Given the description of an element on the screen output the (x, y) to click on. 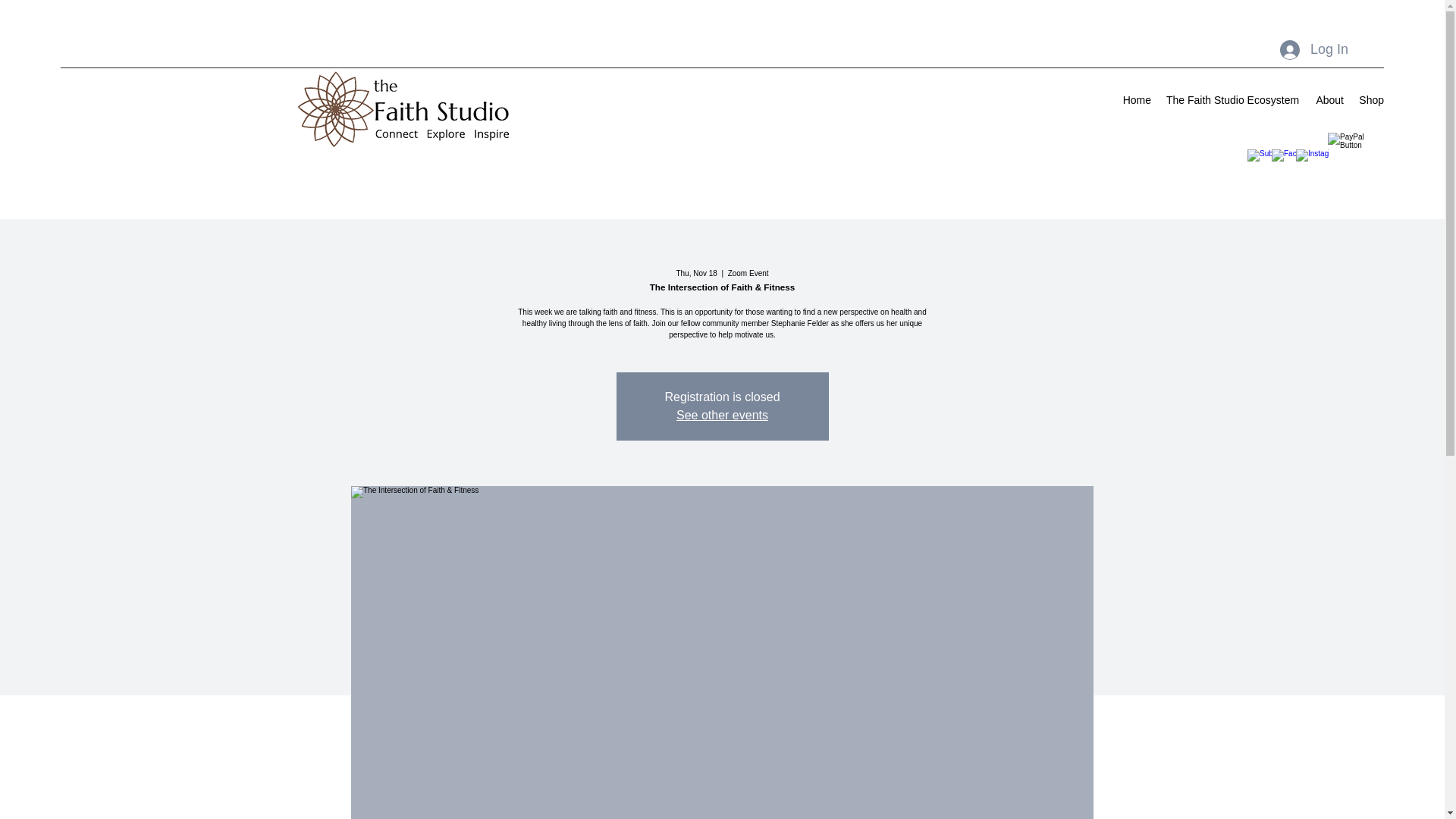
Log In (1313, 49)
Home (1136, 99)
Shop (1371, 99)
See other events (722, 414)
